Given the description of an element on the screen output the (x, y) to click on. 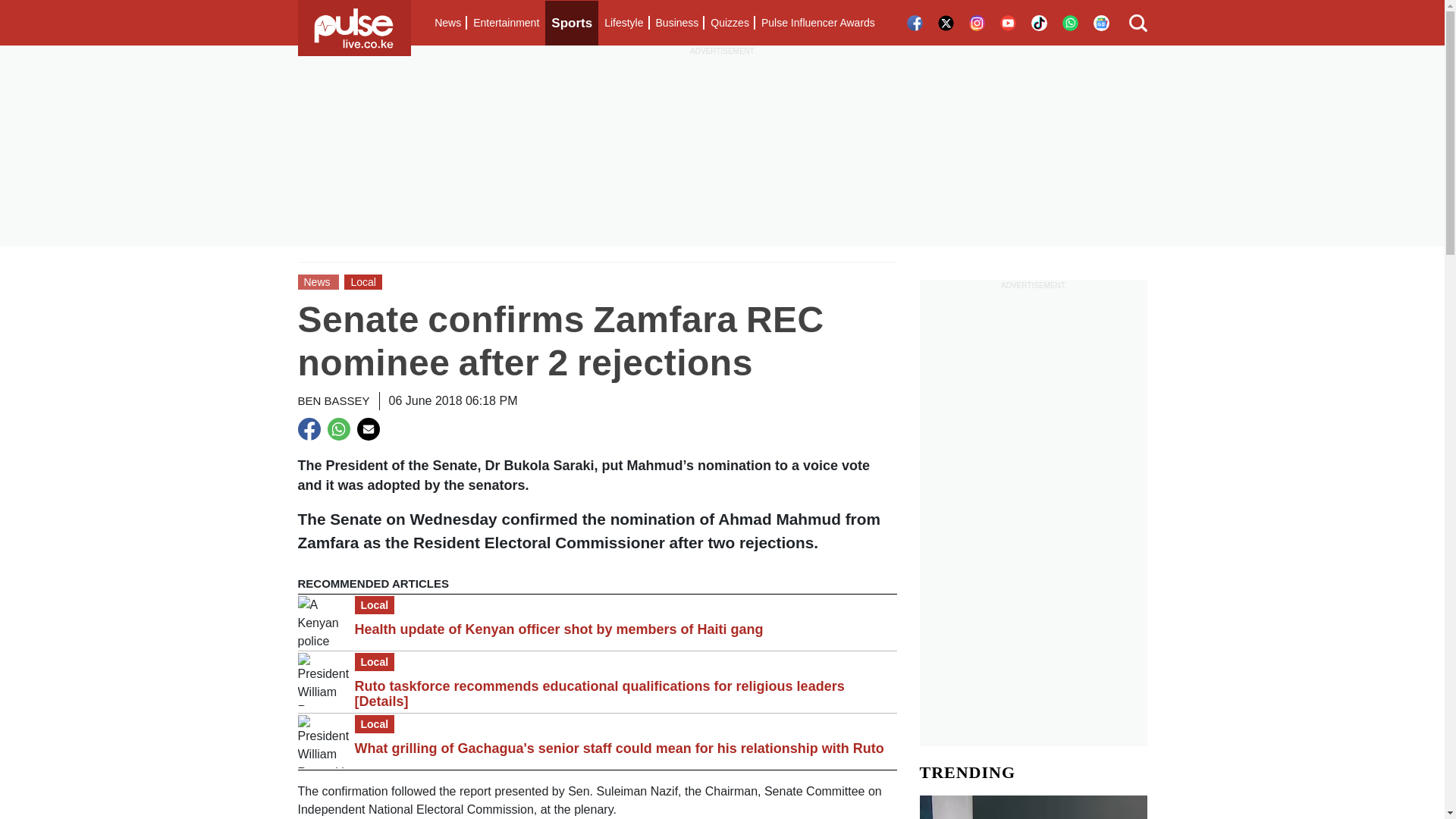
Business (676, 22)
Quizzes (729, 22)
Pulse Influencer Awards (817, 22)
Lifestyle (623, 22)
Entertainment (505, 22)
Sports (571, 22)
